Given the description of an element on the screen output the (x, y) to click on. 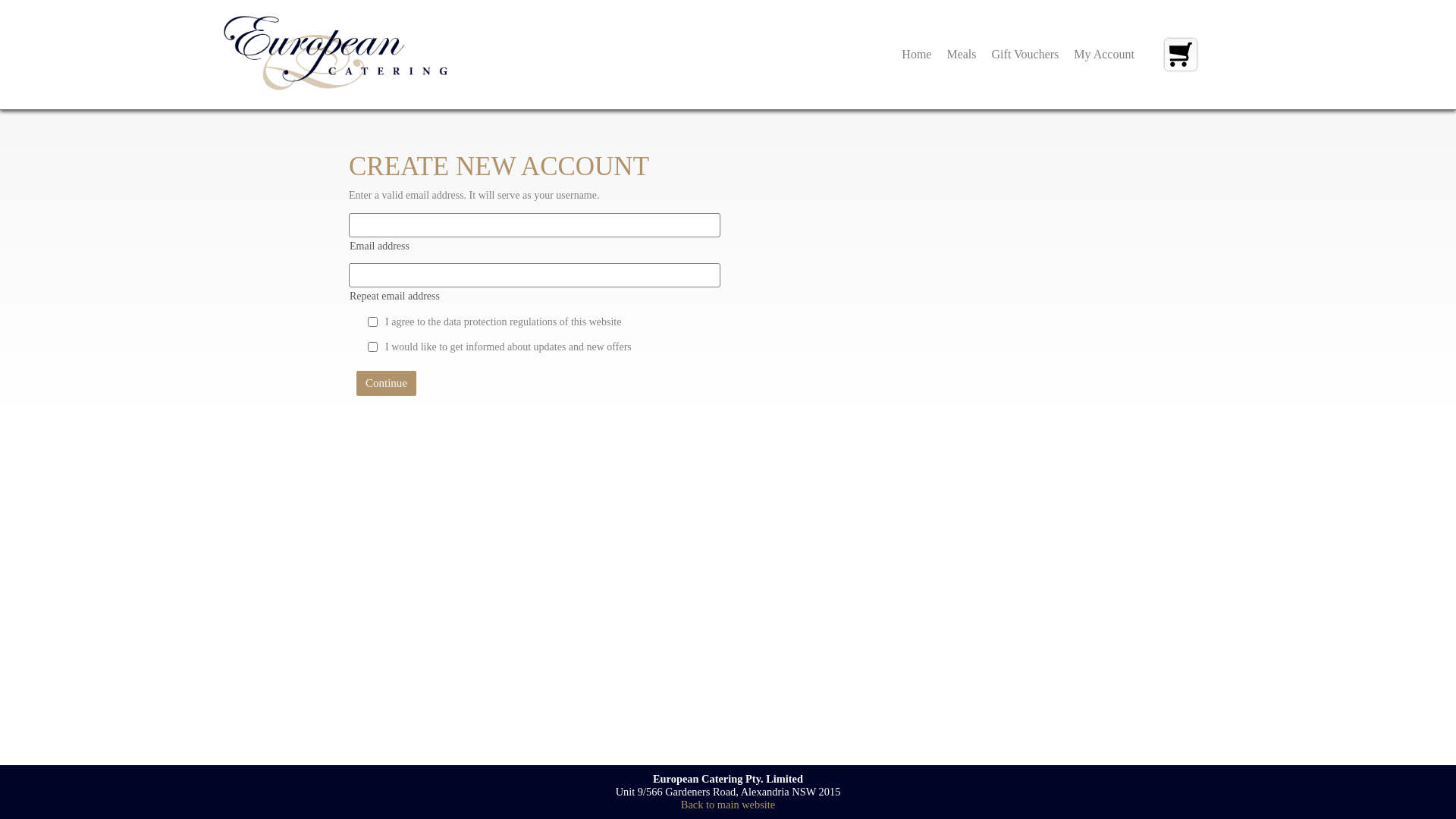
My Account Element type: text (1103, 53)
Gift Vouchers Element type: text (1025, 53)
Meals Element type: text (960, 53)
Continue Element type: text (386, 382)
Home Element type: text (916, 53)
Back to main website Element type: text (727, 804)
